Given the description of an element on the screen output the (x, y) to click on. 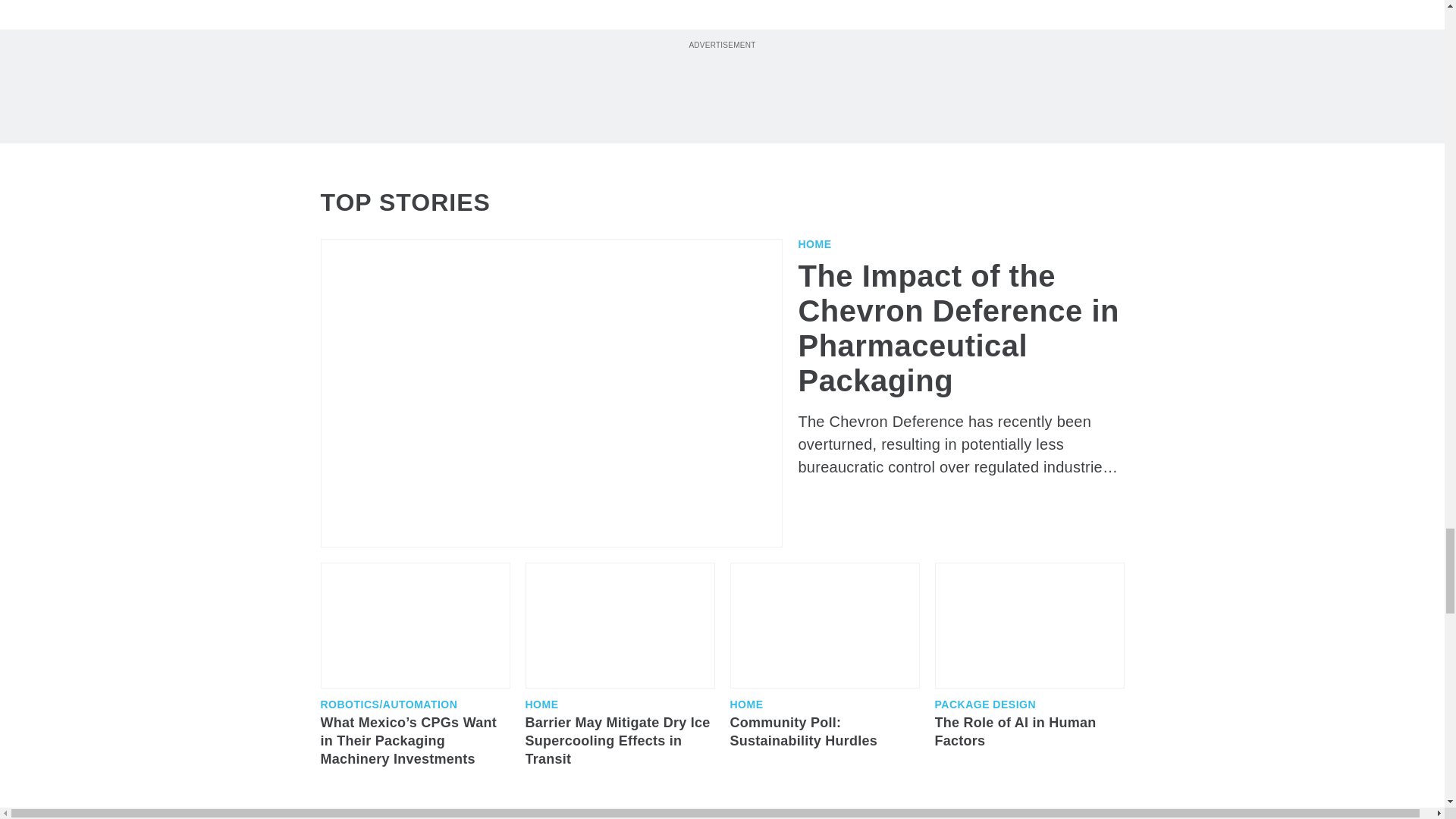
Home (540, 704)
Home (814, 244)
Home (745, 704)
